Given the description of an element on the screen output the (x, y) to click on. 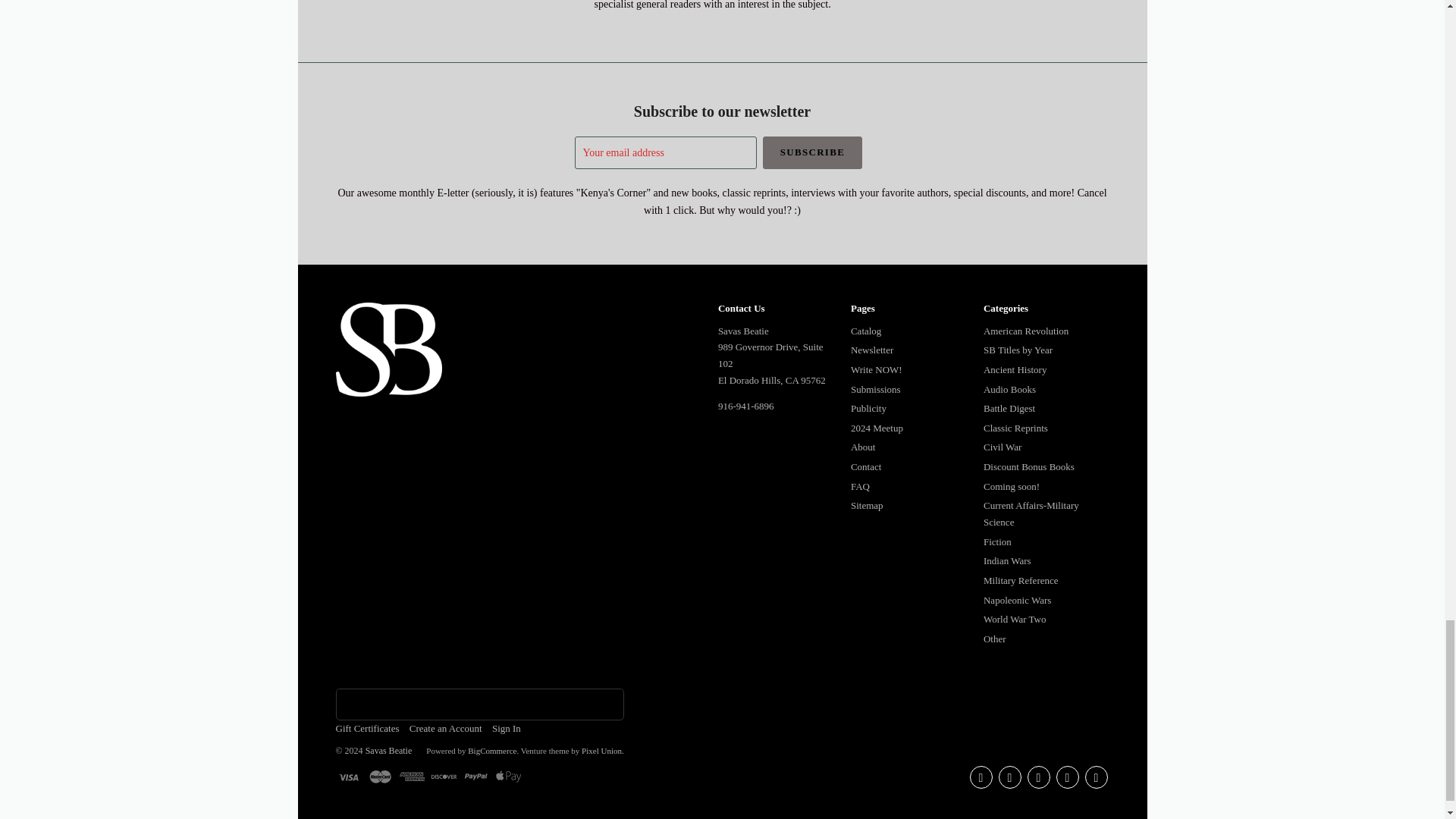
Visa (347, 776)
Subscribe (812, 152)
Discover (443, 776)
Paypal (476, 776)
Mastercard (380, 776)
Apple Pay (508, 776)
American Express (411, 776)
